Given the description of an element on the screen output the (x, y) to click on. 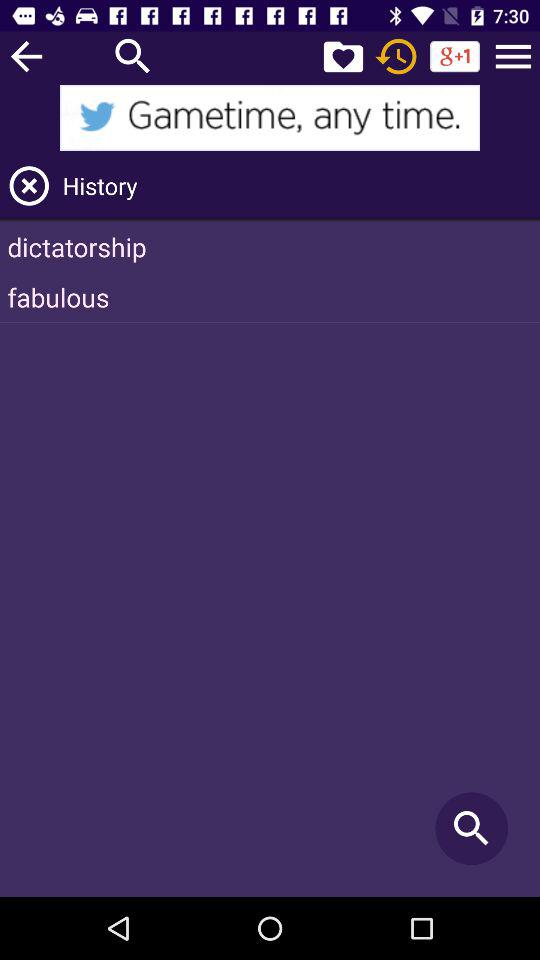
go back (26, 56)
